Given the description of an element on the screen output the (x, y) to click on. 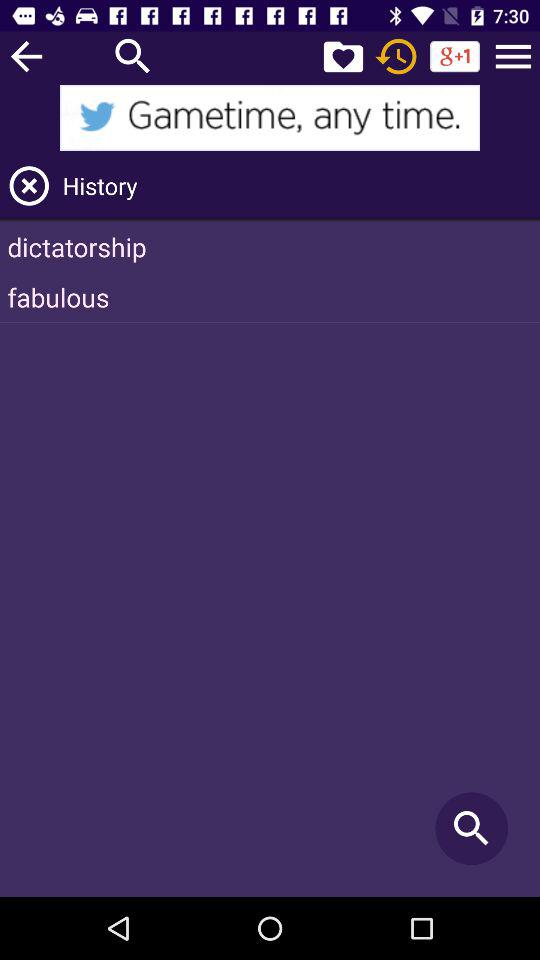
go back (26, 56)
